Given the description of an element on the screen output the (x, y) to click on. 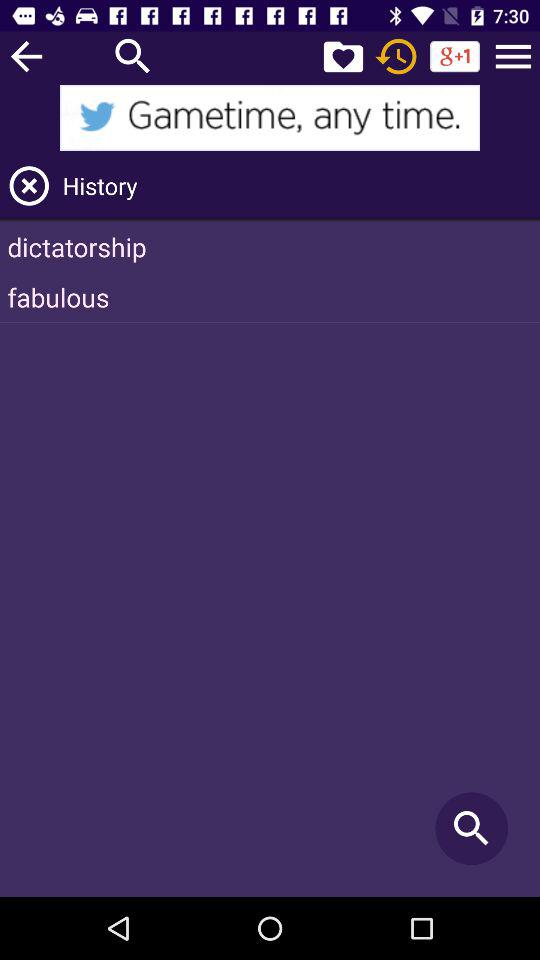
go back (26, 56)
